Given the description of an element on the screen output the (x, y) to click on. 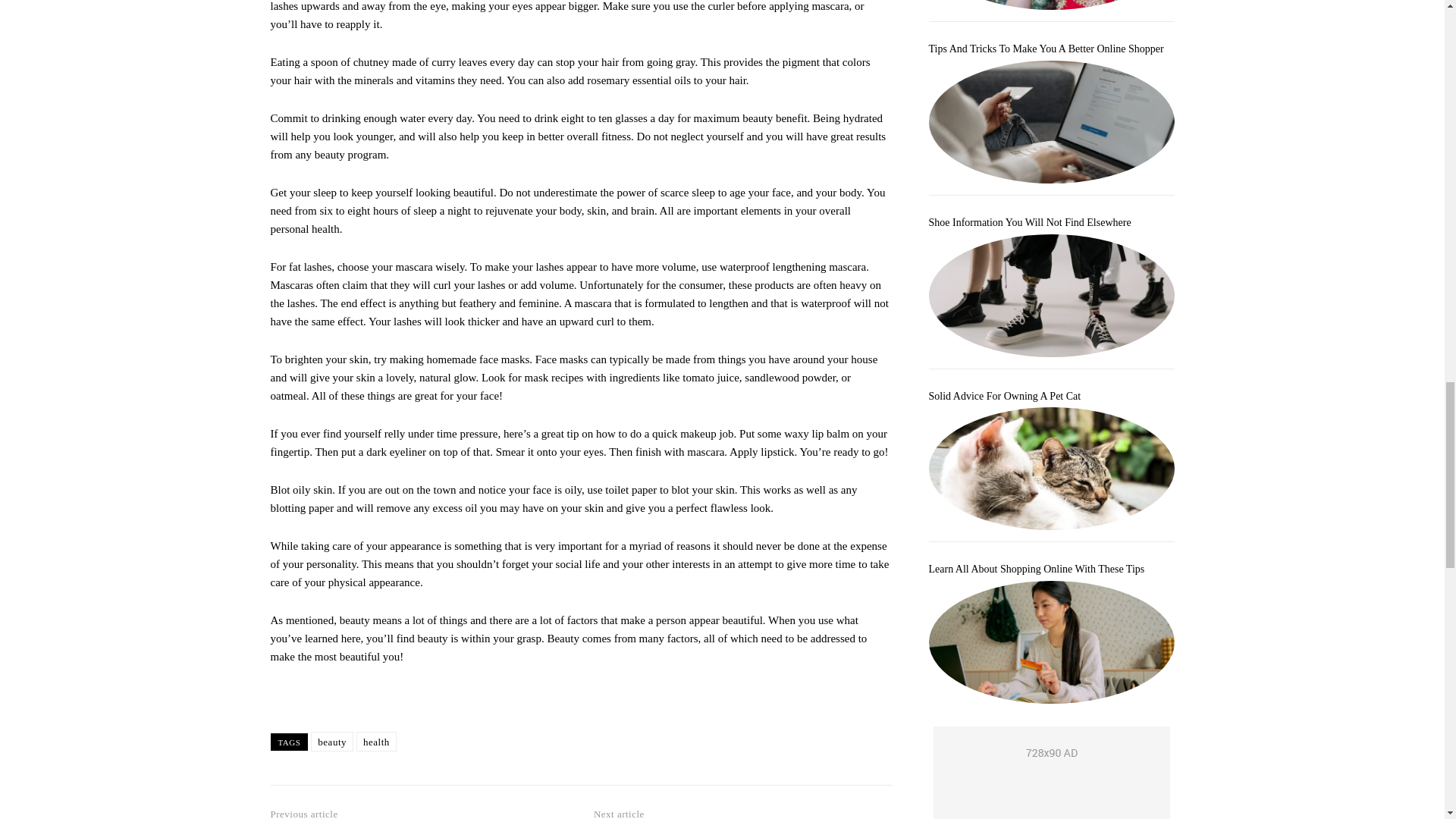
Tips And Tricks To Make You A Better Online Shopper (1045, 48)
beauty (332, 741)
Tips And Tricks To Make You A Better Online Shopper (1050, 121)
How To Shop For Budget Jewelry And Still Look Great (1050, 4)
health (376, 741)
